Given the description of an element on the screen output the (x, y) to click on. 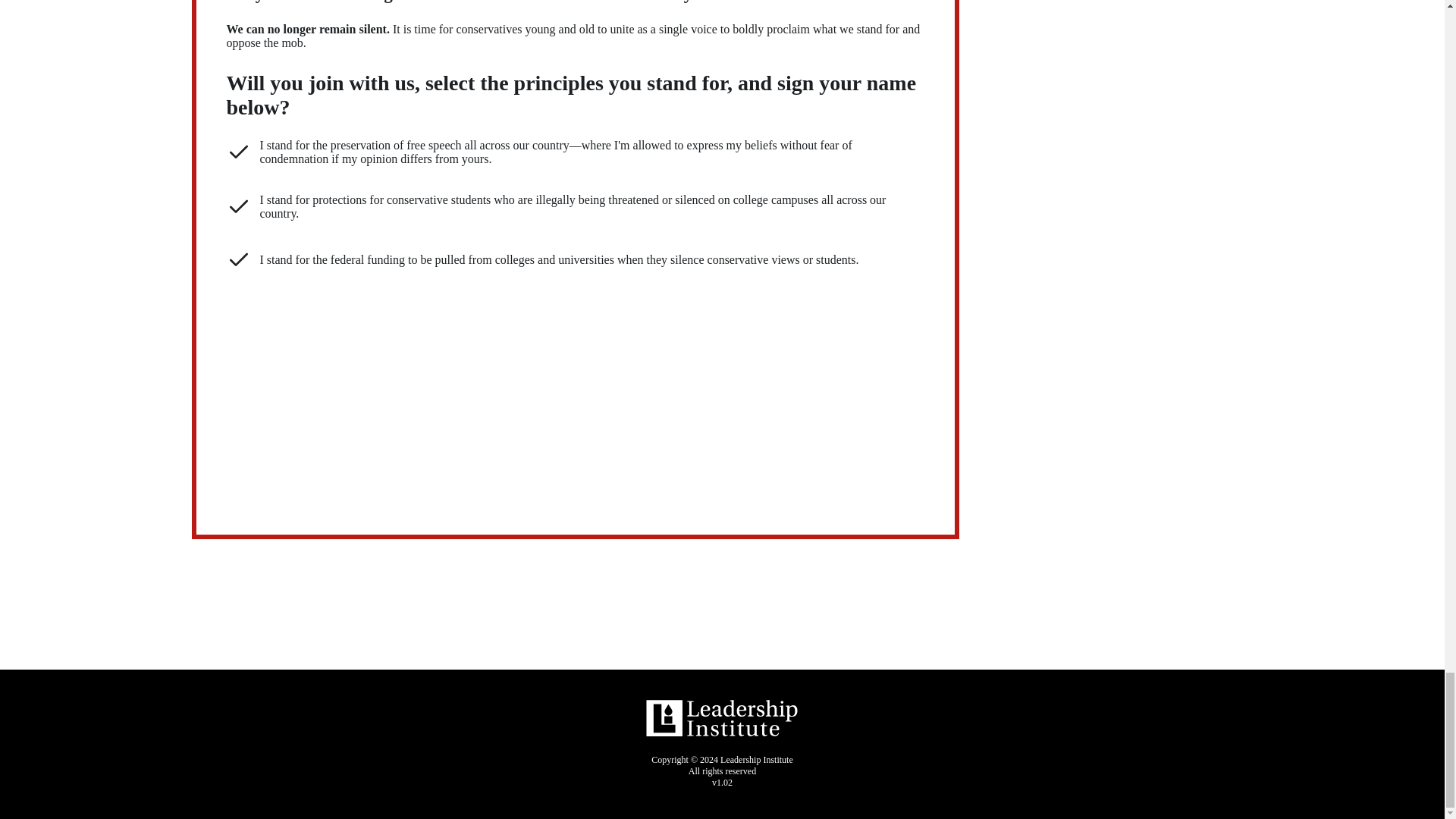
Form 0 (574, 391)
